Given the description of an element on the screen output the (x, y) to click on. 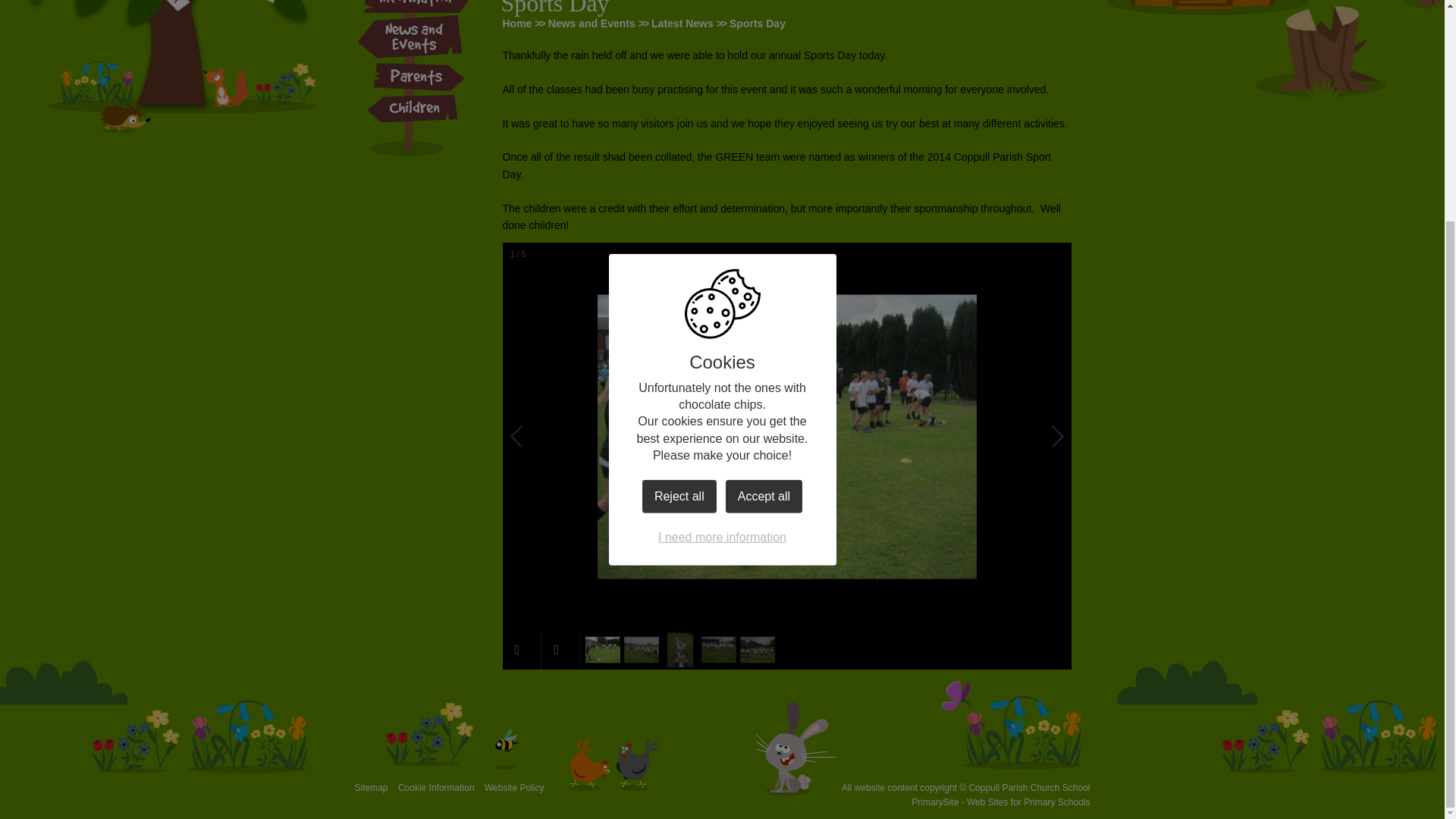
Key Information (416, 8)
Sports Day (757, 23)
News and Events (591, 23)
Home (516, 23)
Latest News (681, 23)
